Given the description of an element on the screen output the (x, y) to click on. 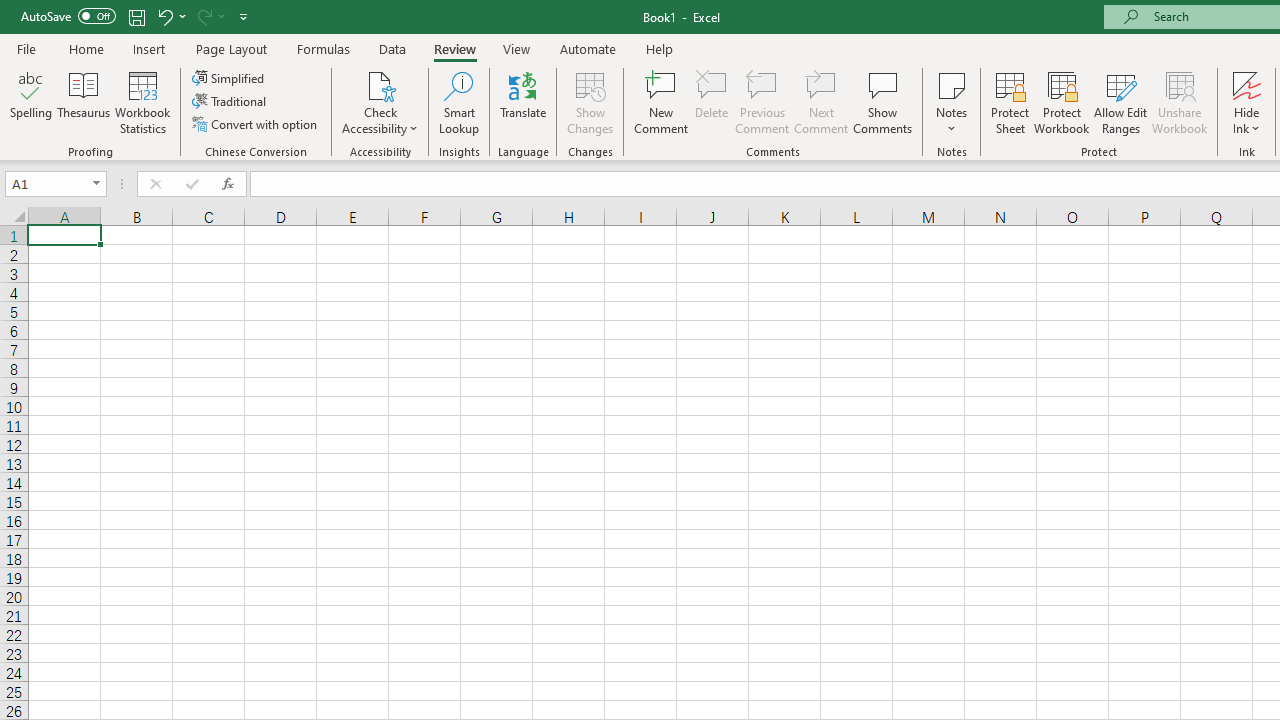
Protect Workbook... (1061, 102)
